Given the description of an element on the screen output the (x, y) to click on. 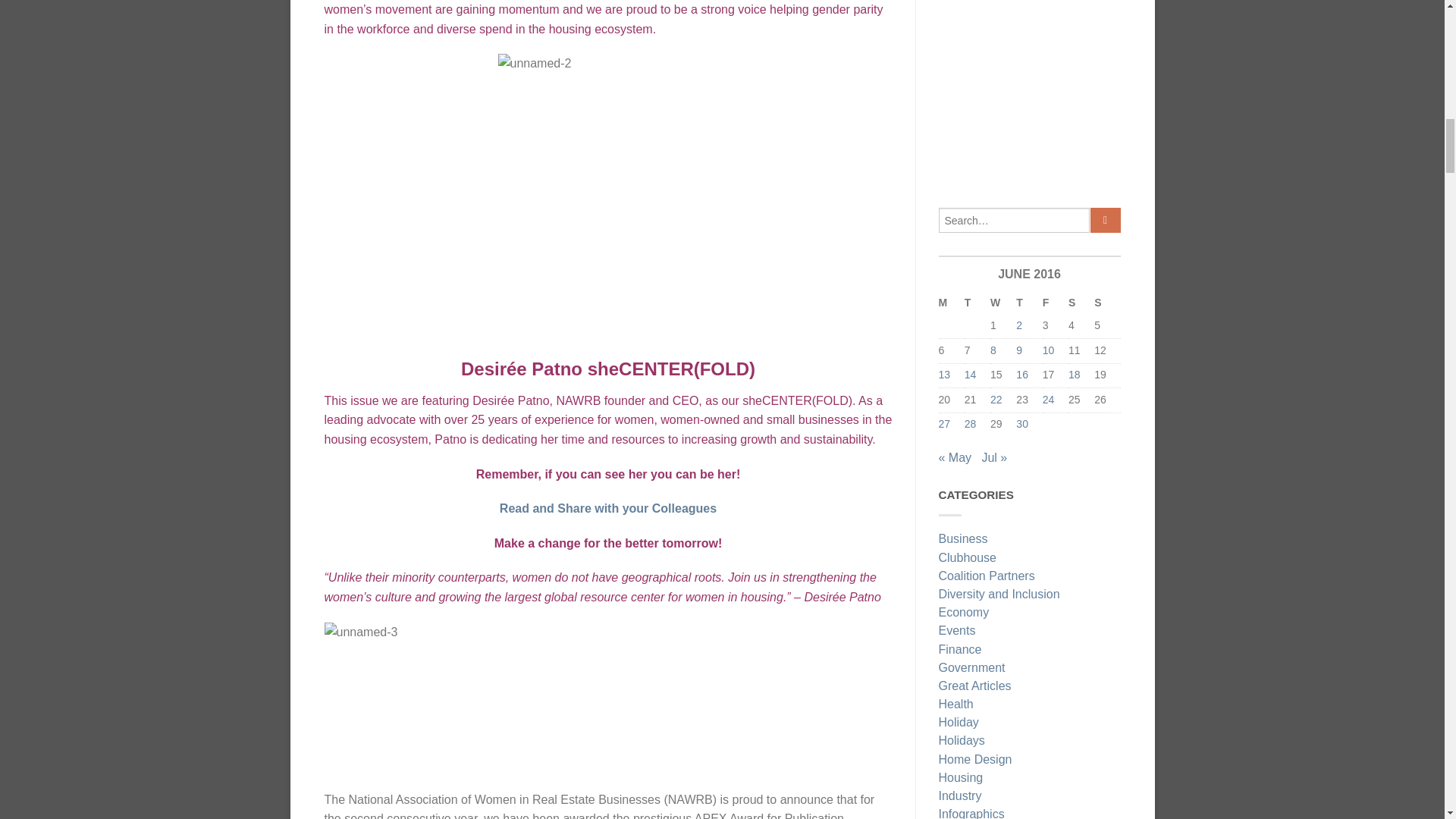
Thursday (1029, 302)
Sunday (1106, 302)
Friday (1055, 302)
Saturday (1081, 302)
Tuesday (976, 302)
Monday (951, 302)
Wednesday (1003, 302)
